Given the description of an element on the screen output the (x, y) to click on. 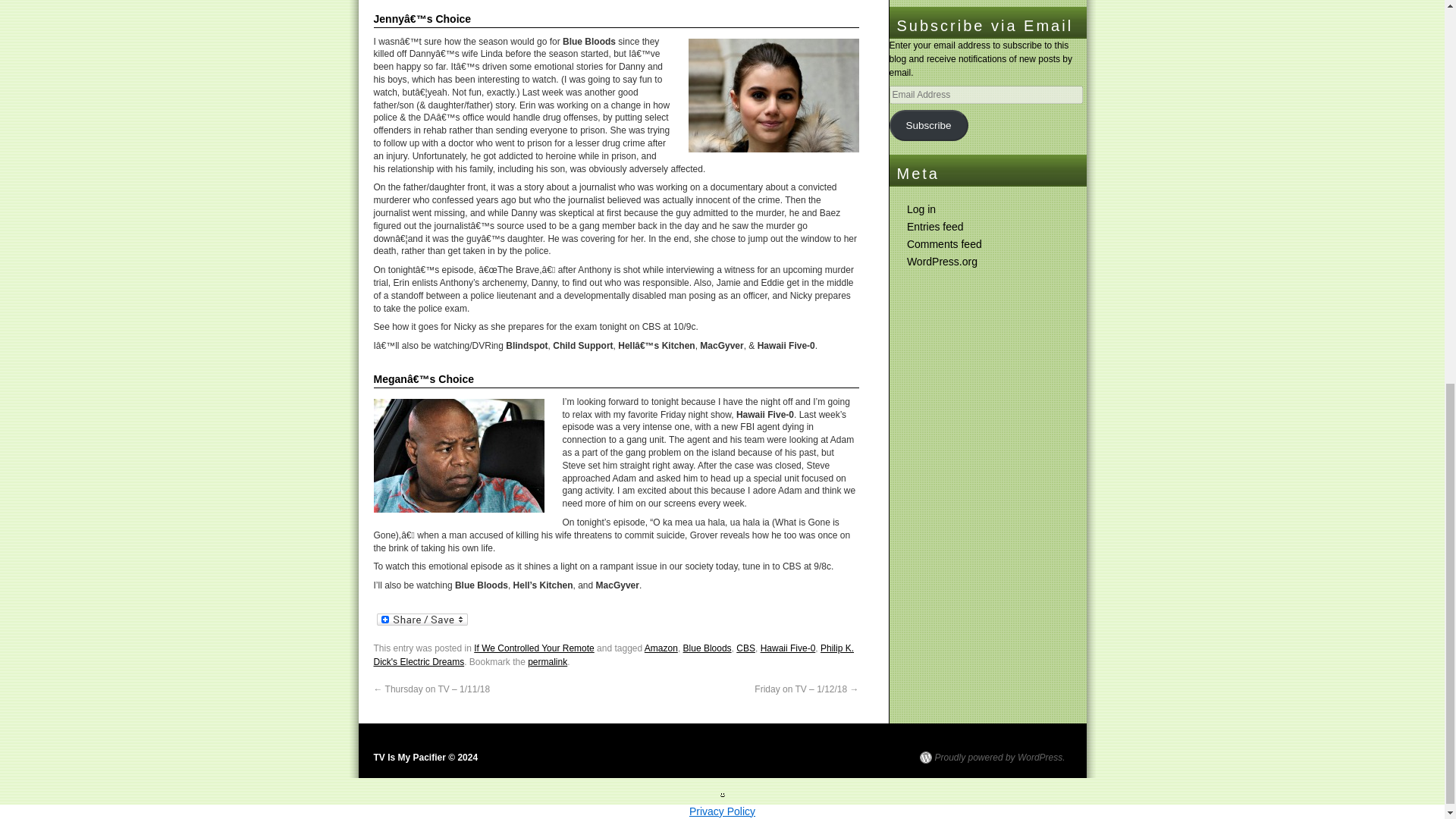
If We Controlled Your Remote (534, 647)
Blue Bloods (707, 647)
Hawaii Five-0 (787, 647)
Philip K. Dick's Electric Dreams (612, 654)
permalink (547, 661)
TV Is My Pacifier (424, 757)
Semantic Personal Publishing Platform (991, 757)
CBS (745, 647)
Amazon (661, 647)
